Given the description of an element on the screen output the (x, y) to click on. 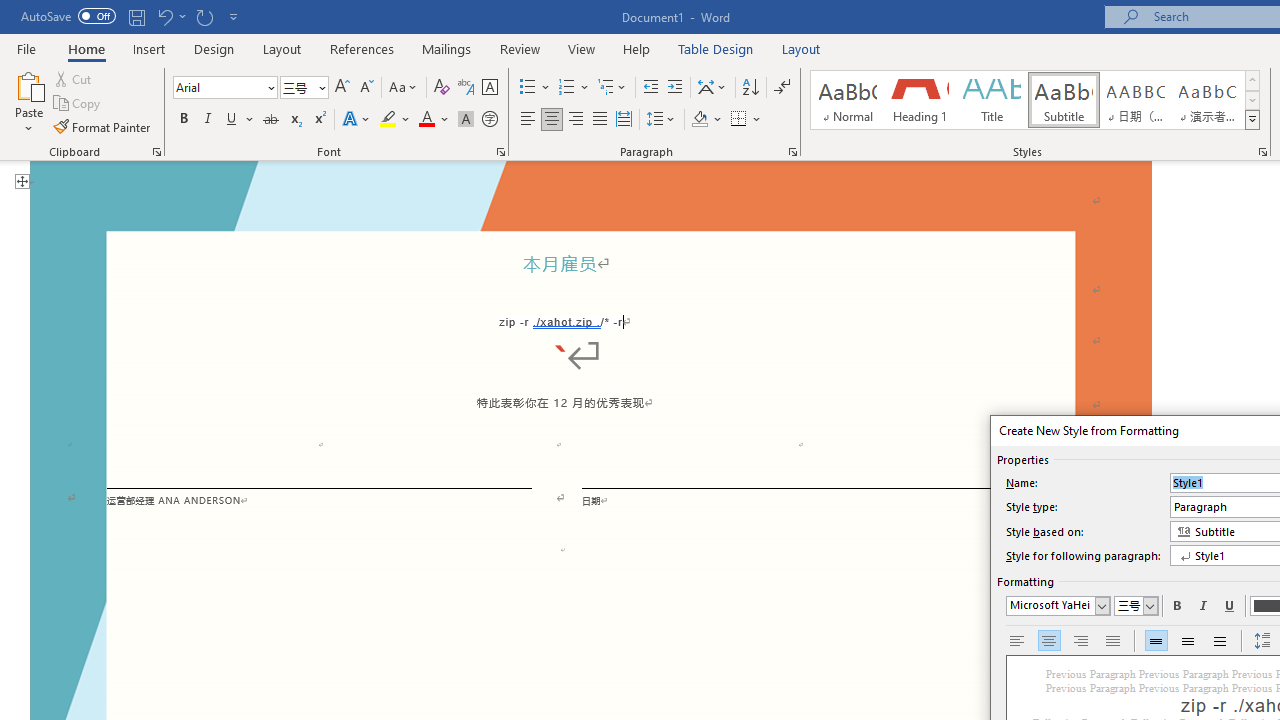
Single Spacing (1156, 641)
MSO Generic Control Container (1058, 606)
